Given the description of an element on the screen output the (x, y) to click on. 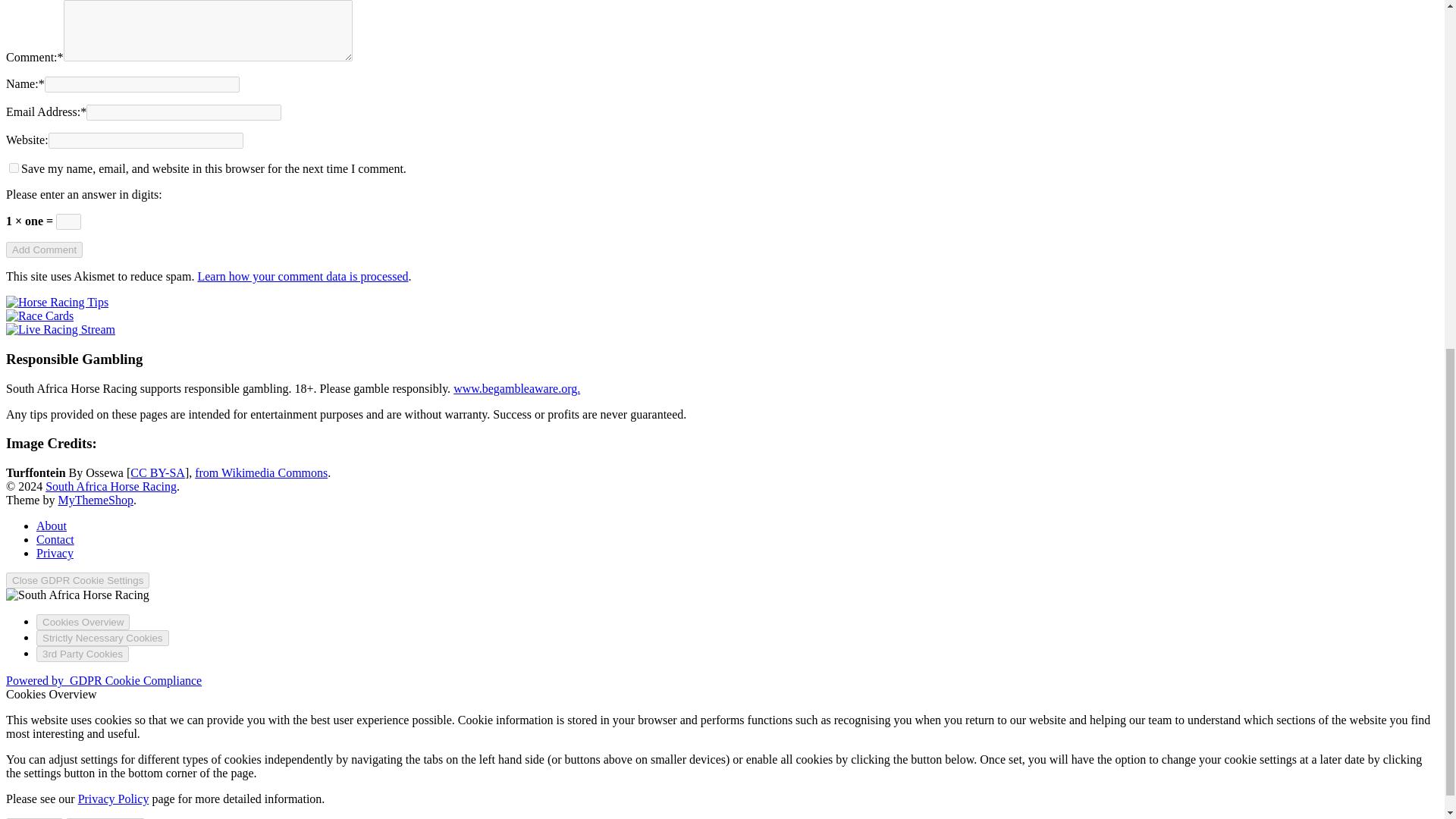
CC BY-SA (157, 472)
South Africa horse racing tips and race cards (110, 486)
About (51, 525)
Contact Us (55, 539)
Privacy (55, 553)
www.begambleaware.org. (515, 388)
South Africa Horse Racing (110, 486)
Cookies Overview (82, 621)
Close GDPR Cookie Settings (77, 580)
Privacy Policy (113, 798)
from Wikimedia Commons (261, 472)
Powered by  GDPR Cookie Compliance (103, 680)
Learn how your comment data is processed (301, 276)
3rd Party Cookies (82, 653)
Contact (55, 539)
